Given the description of an element on the screen output the (x, y) to click on. 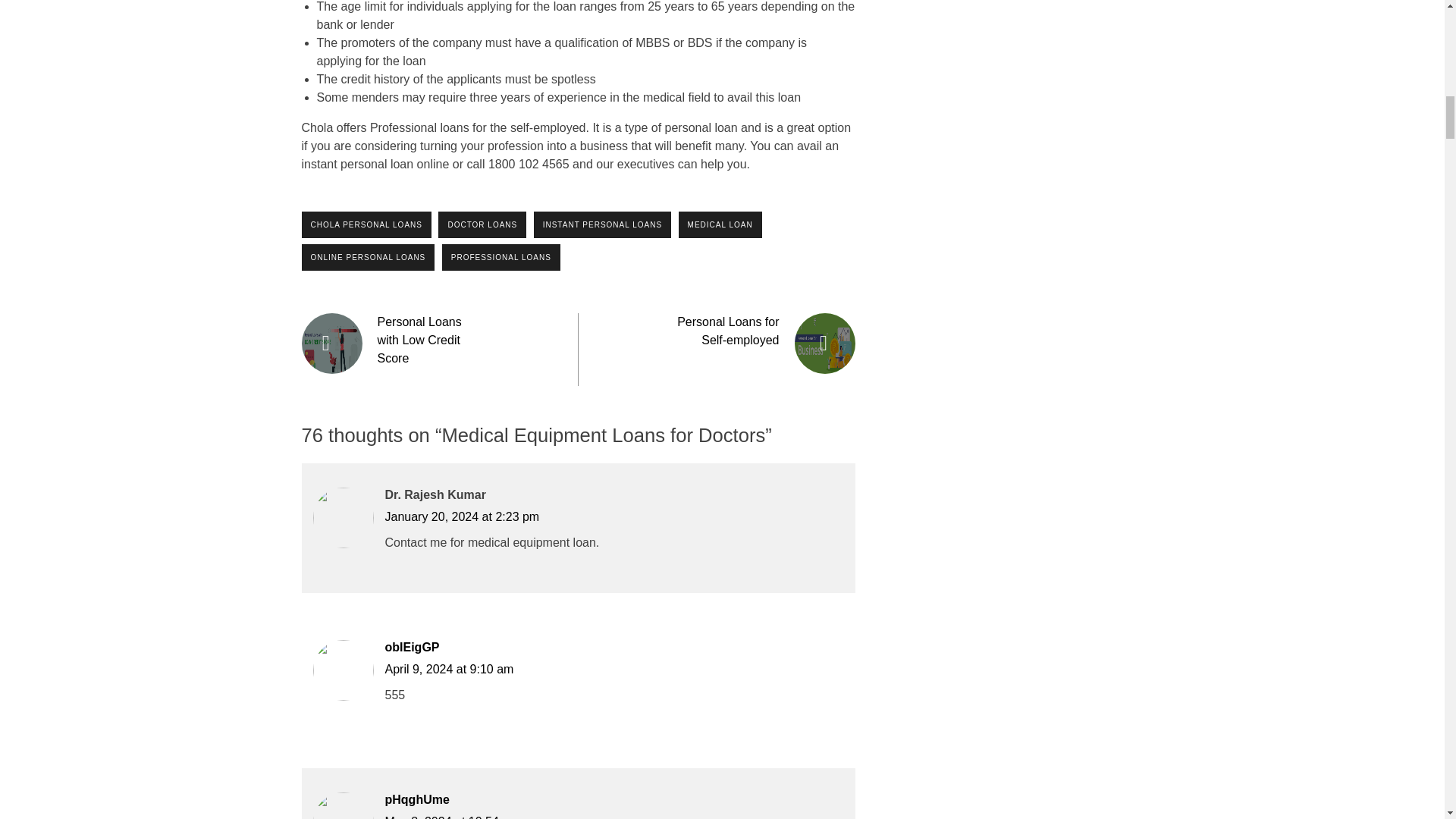
ONLINE PERSONAL LOANS (368, 257)
MEDICAL LOAN (719, 224)
DOCTOR LOANS (481, 224)
CHOLA PERSONAL LOANS (365, 224)
Personal Loans for Self-employed (727, 330)
January 20, 2024 at 2:23 pm (462, 516)
PROFESSIONAL LOANS (501, 257)
May 8, 2024 at 10:54 am (452, 816)
obIEigGP (412, 646)
pHqghUme (417, 799)
INSTANT PERSONAL LOANS (602, 224)
Personal Loans with Low Credit Score (419, 339)
April 9, 2024 at 9:10 am (449, 668)
